Given the description of an element on the screen output the (x, y) to click on. 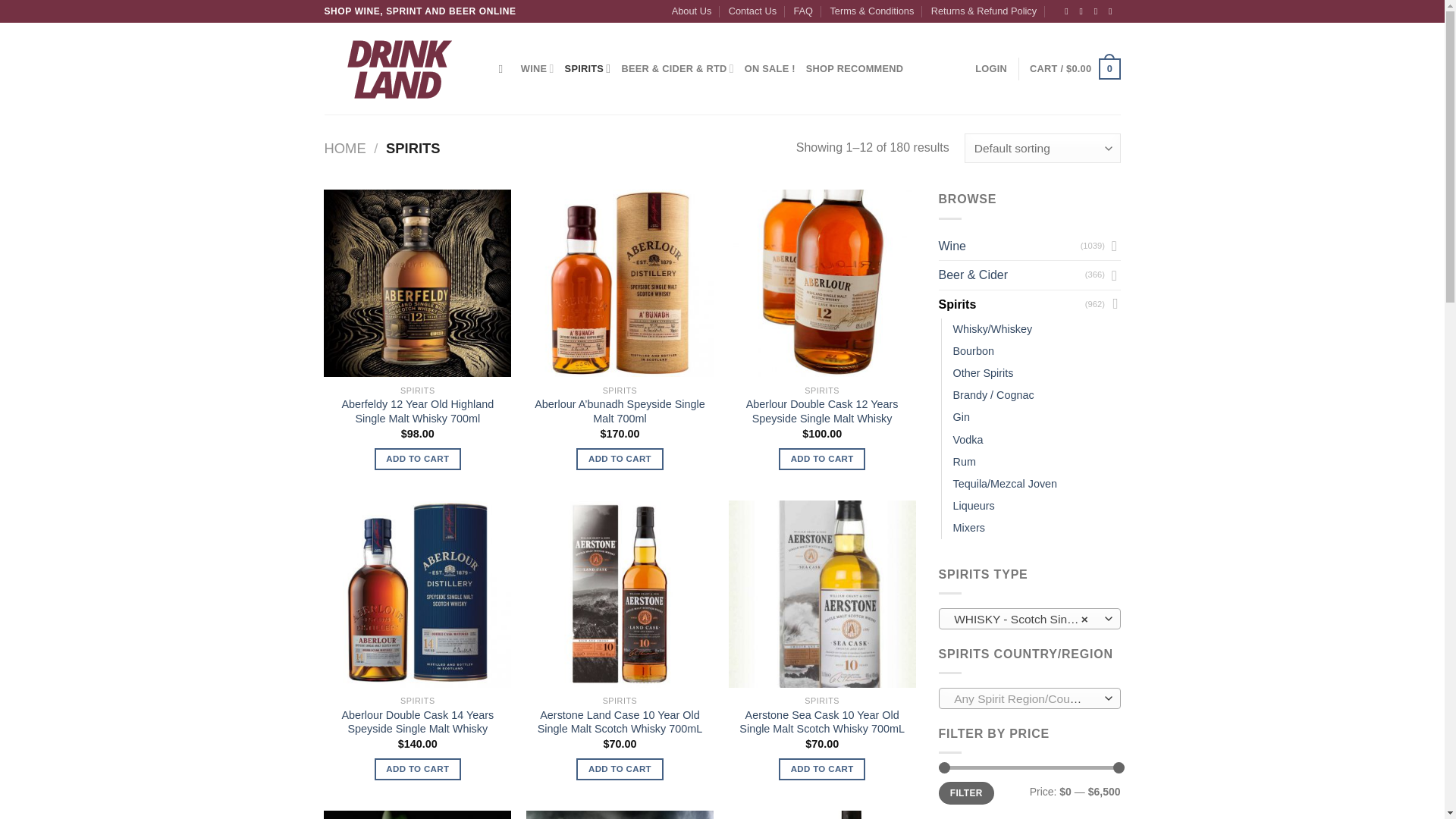
Cart (1074, 68)
SPIRITS (587, 69)
Contact Us (752, 11)
WHISKY - Scotch Single Malt Whisky (1025, 619)
About Us (691, 11)
WINE (537, 69)
